Given the description of an element on the screen output the (x, y) to click on. 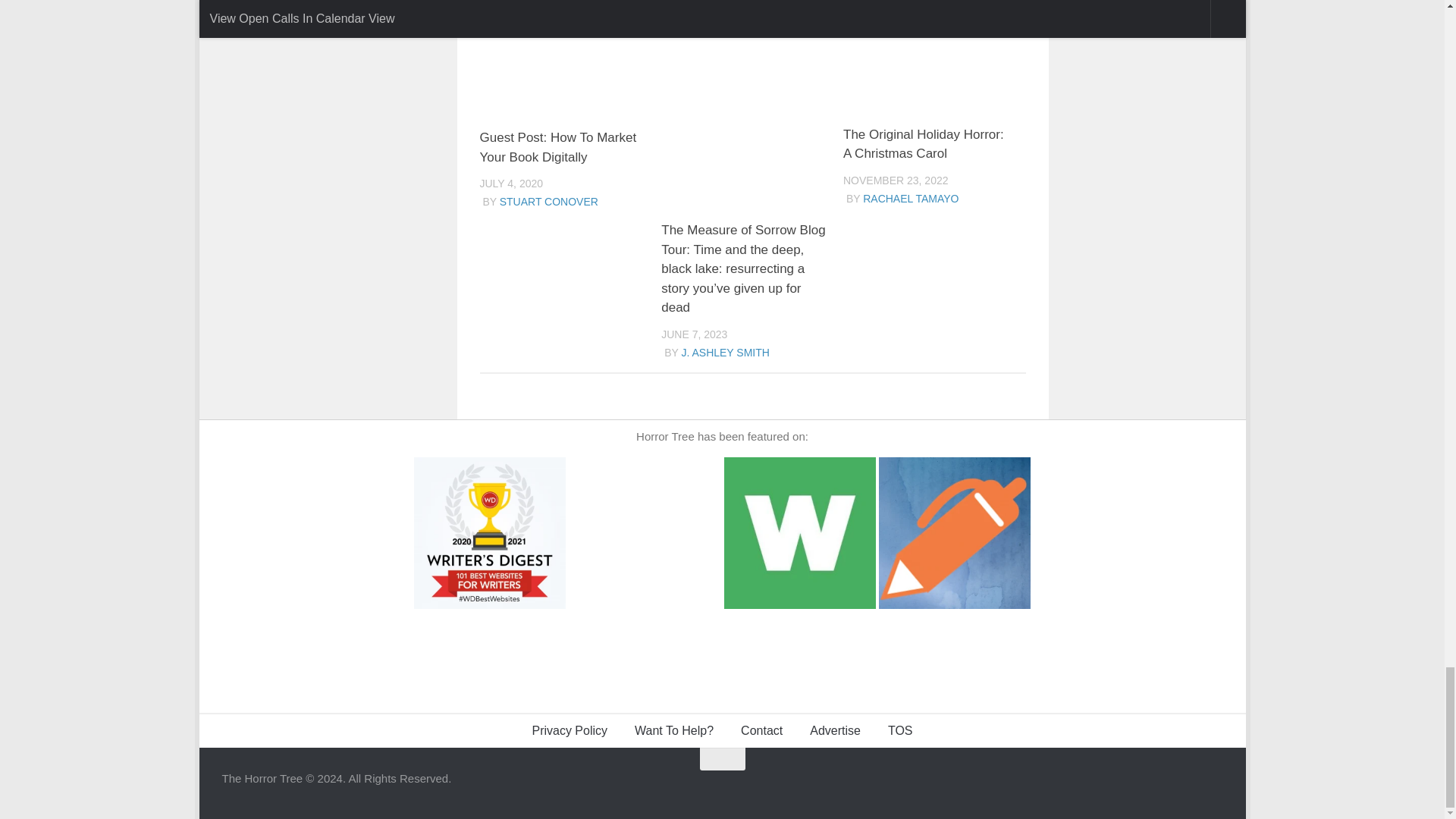
Posts by Rachael Tamayo (910, 198)
Posts by J. Ashley Smith (724, 351)
Posts by Stuart Conover (548, 201)
